Given the description of an element on the screen output the (x, y) to click on. 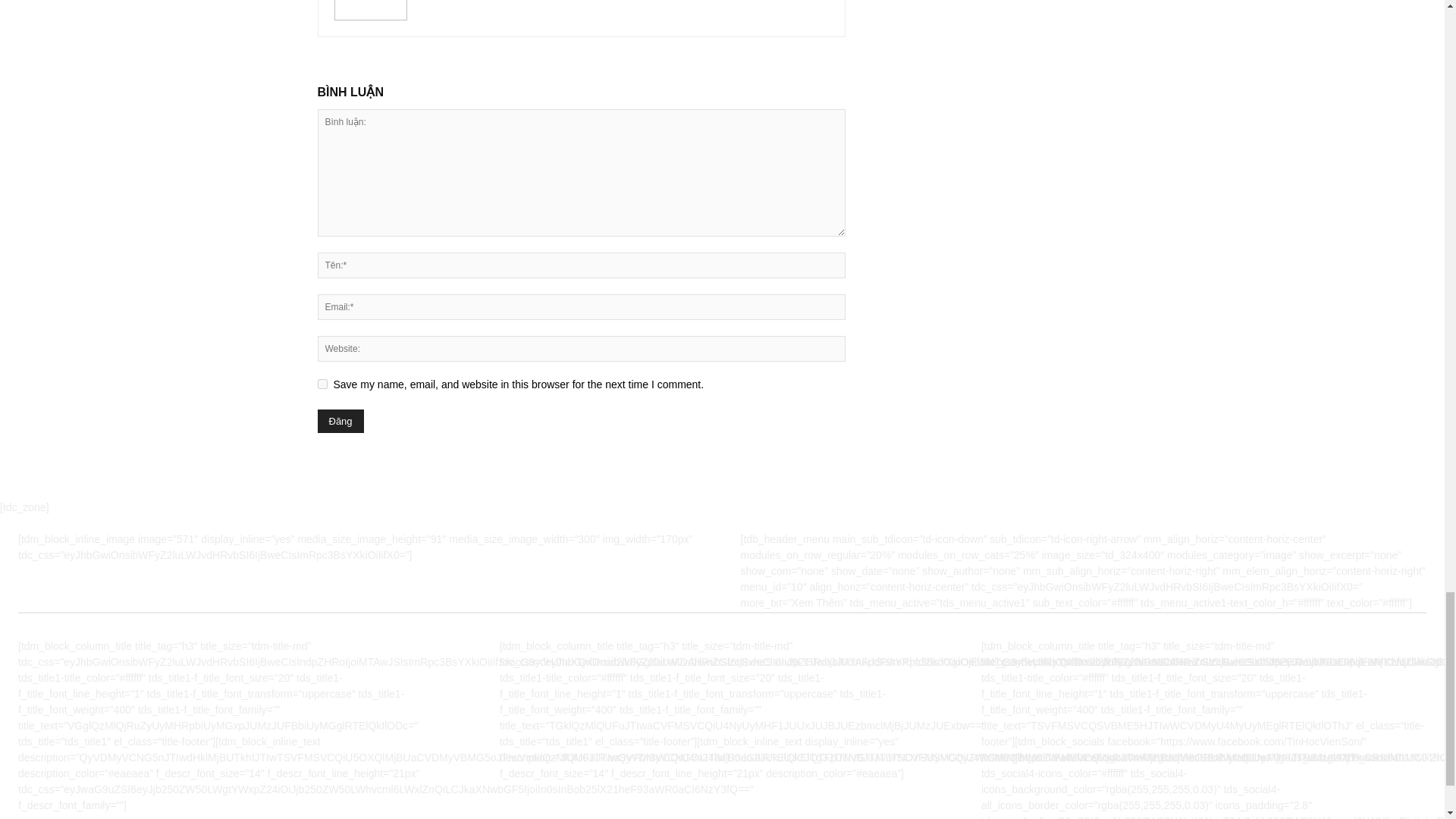
yes (321, 384)
